Given the description of an element on the screen output the (x, y) to click on. 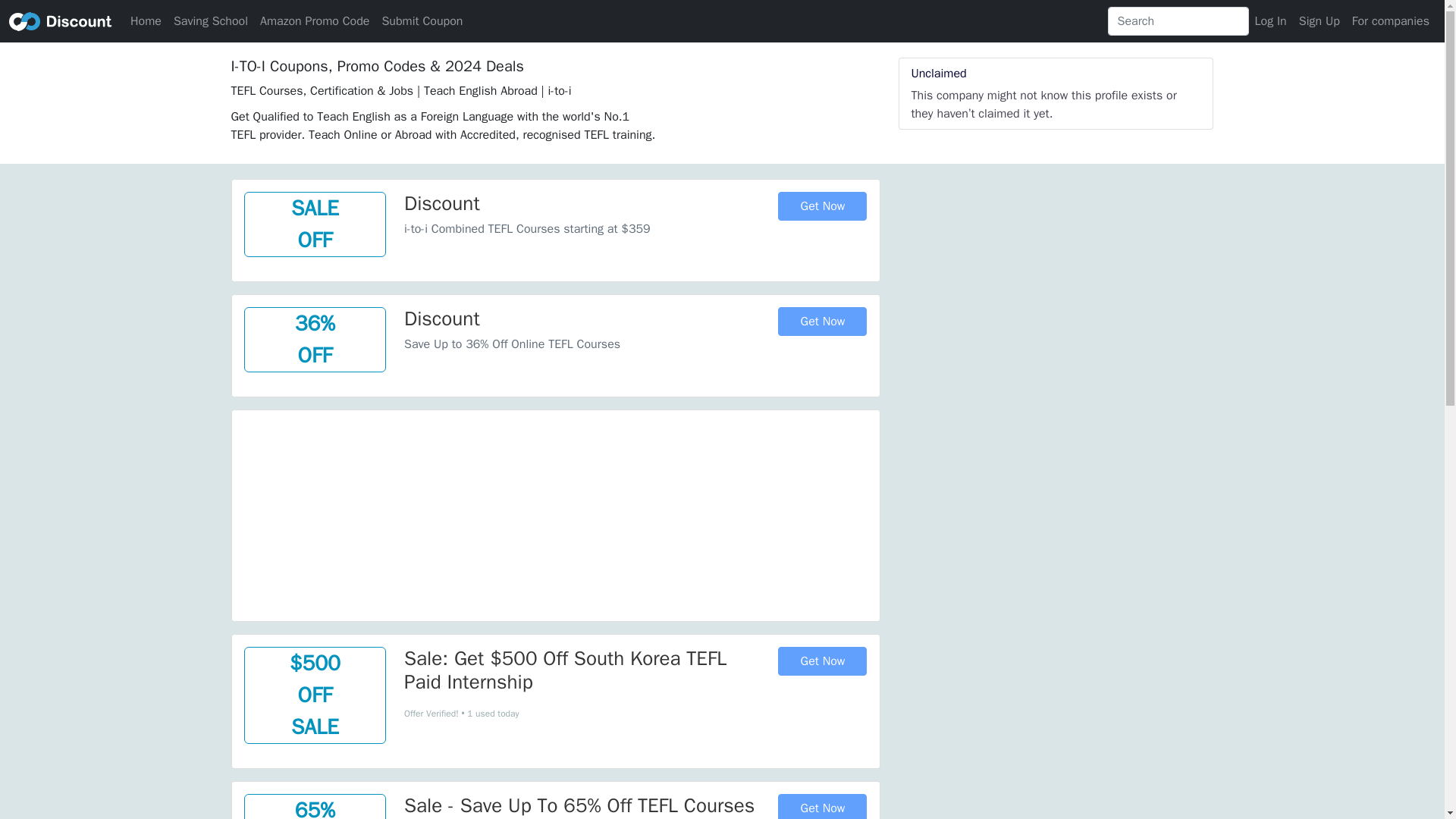
Saving School (210, 20)
Get Now (821, 661)
Home (145, 20)
For companies (1390, 20)
Get Now (821, 806)
Get Now (821, 205)
Amazon Promo Code (314, 20)
Sign Up (1318, 20)
Get Now (821, 321)
Submit Coupon (421, 20)
oodiscount (60, 20)
Log In (1270, 20)
Advertisement (555, 516)
